Given the description of an element on the screen output the (x, y) to click on. 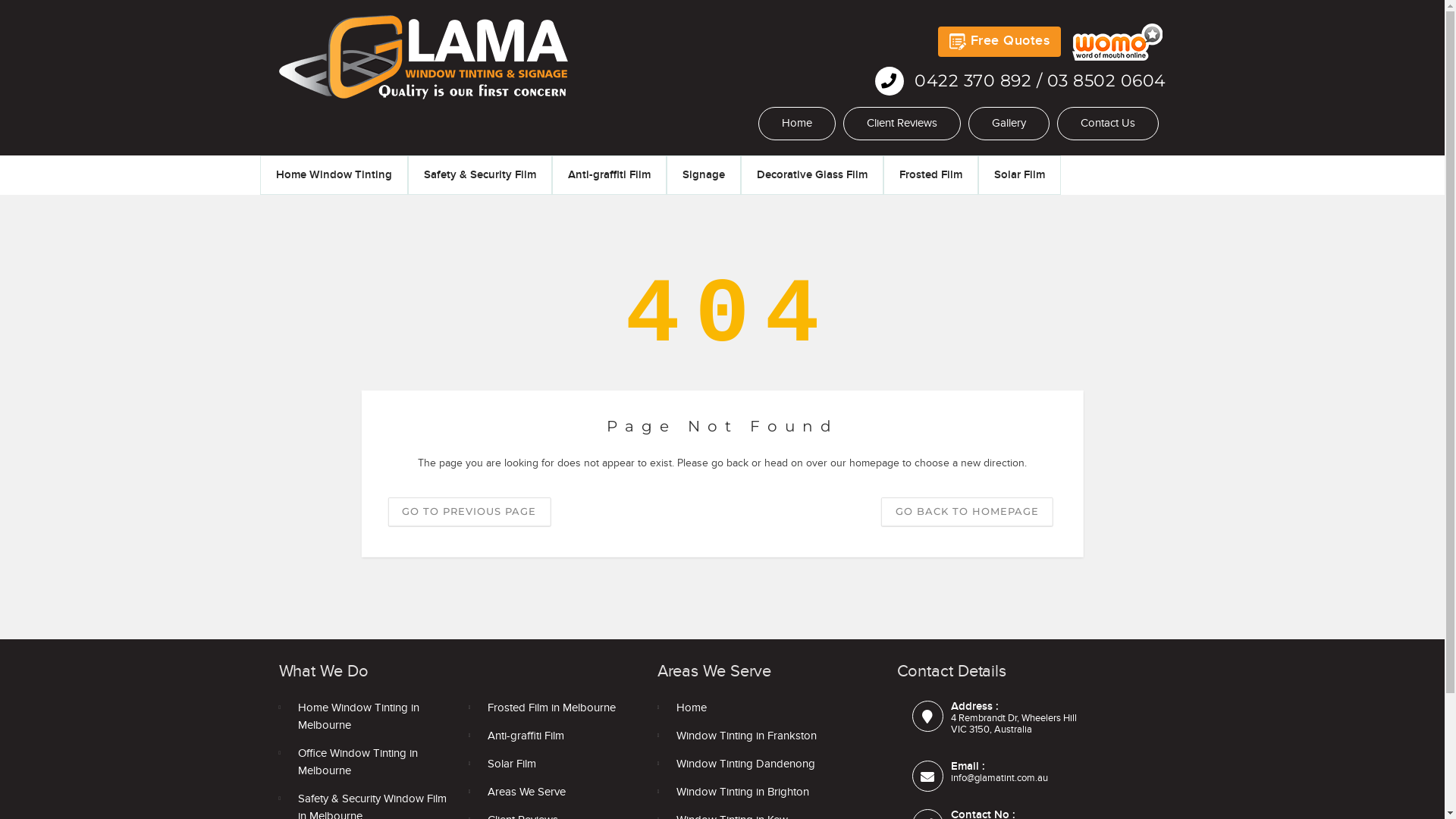
Solar Film Element type: text (1019, 174)
Solar Film Element type: text (558, 765)
0422 370 892 Element type: text (975, 80)
Signage Element type: text (703, 174)
Office Window Tinting in Melbourne Element type: text (368, 763)
Areas We Serve Element type: text (558, 793)
Window Tinting in Frankston Element type: text (759, 737)
Free Quotes Element type: text (999, 41)
Safety & Security Film Element type: text (479, 174)
Home Element type: text (759, 709)
Contact Us Element type: text (1107, 123)
Anti-graffiti Film Element type: text (558, 737)
Gallery Element type: text (1007, 123)
Anti-graffiti Film Element type: text (609, 174)
03 8502 0604 Element type: text (1105, 80)
Window Tinting Dandenong Element type: text (759, 765)
Home Window Tinting Element type: text (333, 174)
info@glamatint.com.au Element type: text (999, 777)
Frosted Film Element type: text (930, 174)
Home Window Tinting in Melbourne Element type: text (368, 717)
Client Reviews Element type: text (901, 123)
GO TO PREVIOUS PAGE Element type: text (468, 511)
Frosted Film in Melbourne Element type: text (558, 709)
GO BACK TO HOMEPAGE Element type: text (967, 511)
Decorative Glass Film Element type: text (811, 174)
Home Element type: text (796, 123)
Window Tinting in Brighton Element type: text (759, 793)
